Given the description of an element on the screen output the (x, y) to click on. 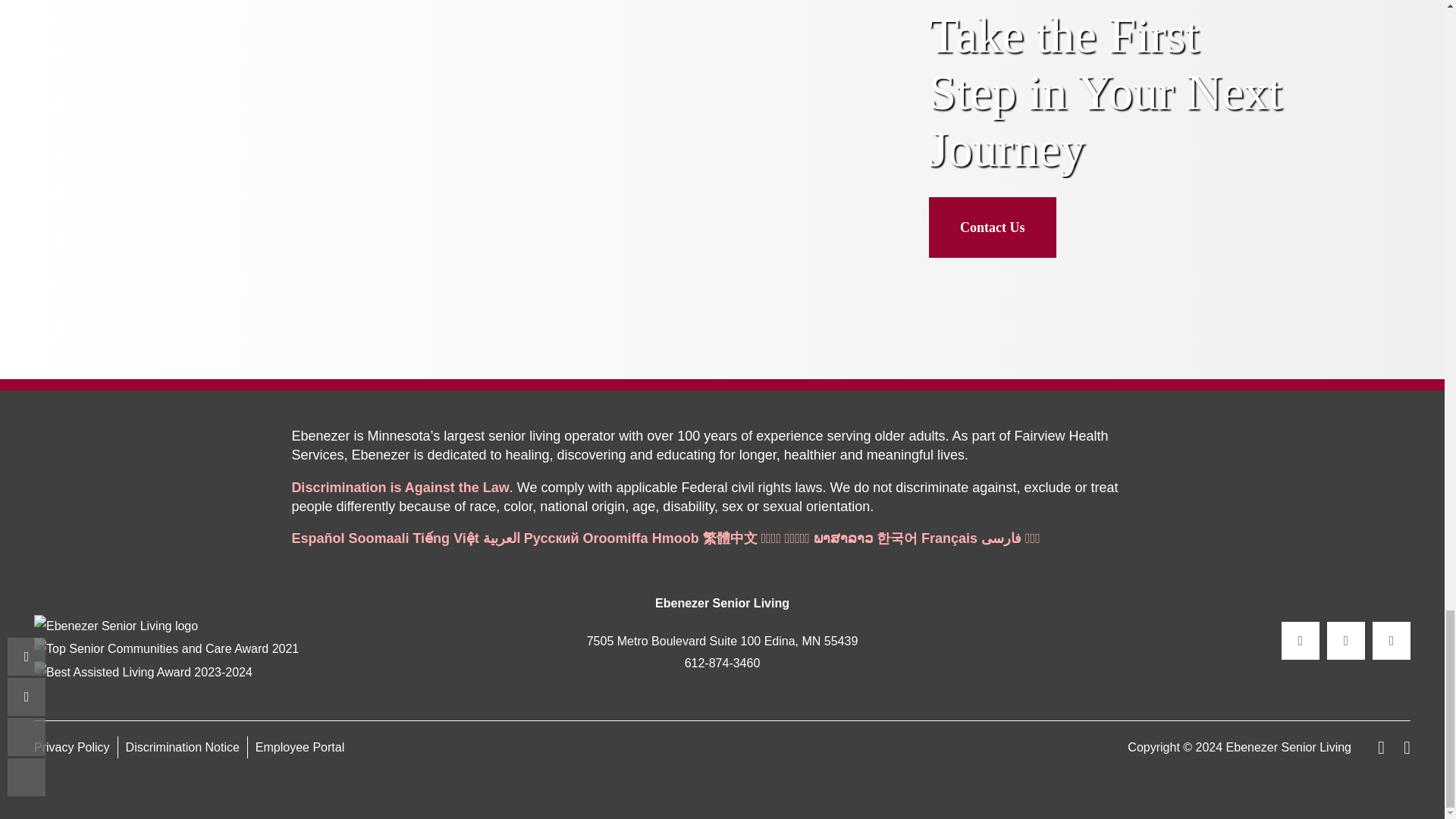
Facebook (1300, 640)
LinkedIn (1345, 640)
YouTube (1391, 640)
Property Phone Number (722, 662)
